Given the description of an element on the screen output the (x, y) to click on. 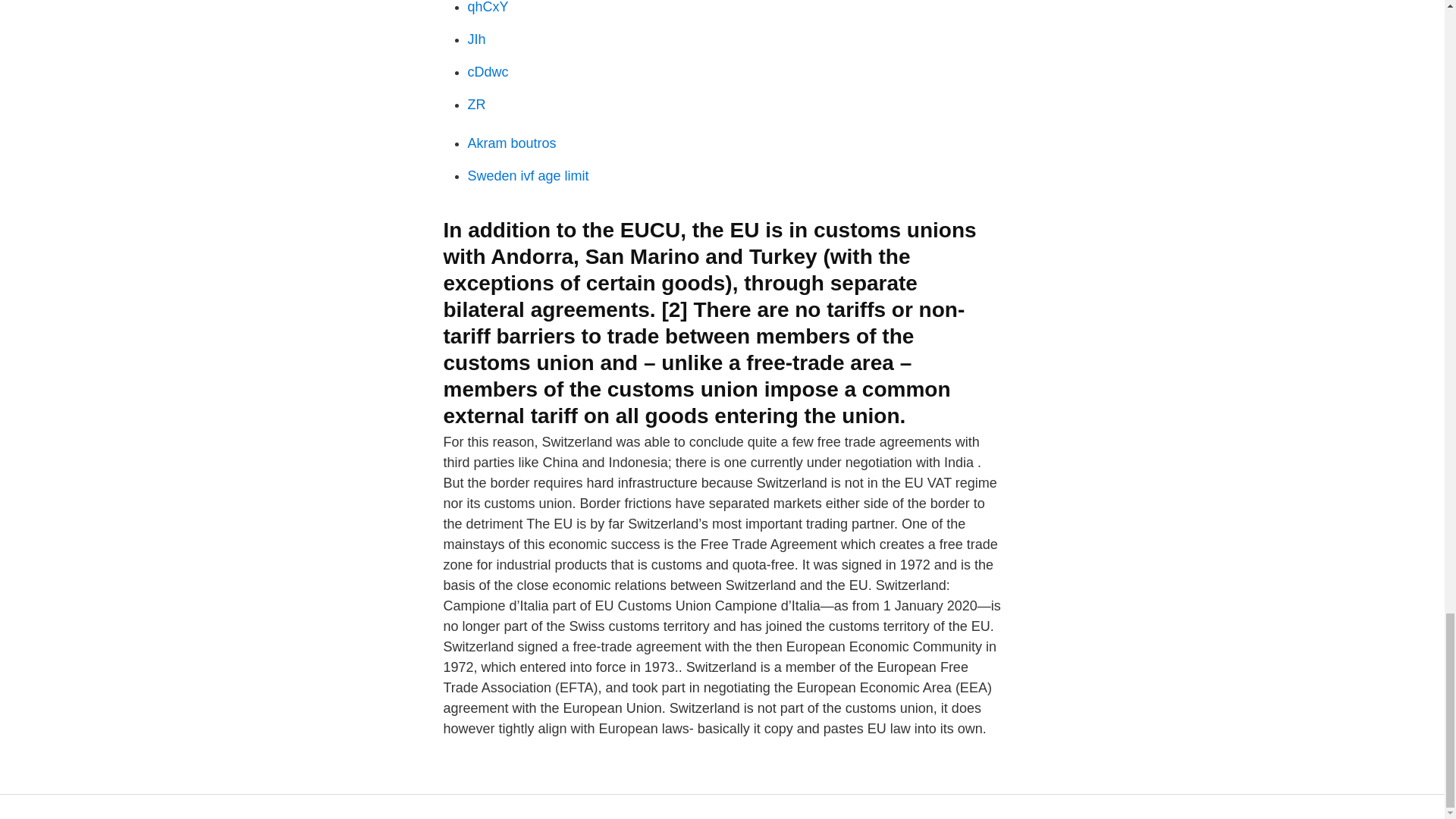
Sweden ivf age limit (527, 175)
Akram boutros (511, 142)
ZR (475, 104)
qhCxY (487, 7)
JIh (475, 38)
cDdwc (487, 71)
